Given the description of an element on the screen output the (x, y) to click on. 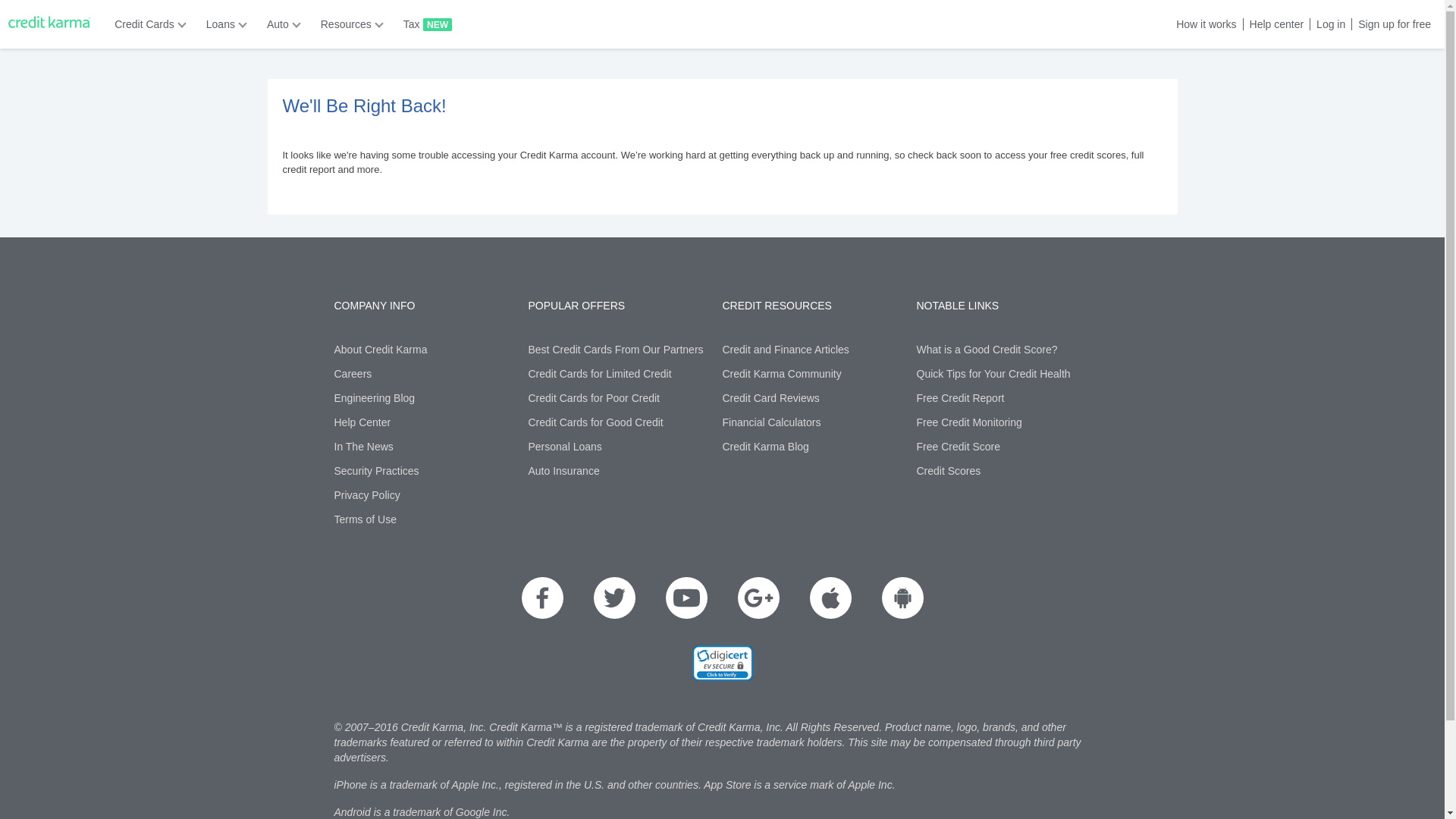
YouTube (686, 598)
Google Plus (757, 598)
Sign up for free (1391, 23)
Help center (1273, 23)
Twitter (613, 598)
Download Android App (901, 598)
Resources (347, 23)
Log in (1326, 23)
Facebook (542, 598)
How it works (1203, 23)
Download iOS App (830, 598)
Credit Cards (146, 23)
